Given the description of an element on the screen output the (x, y) to click on. 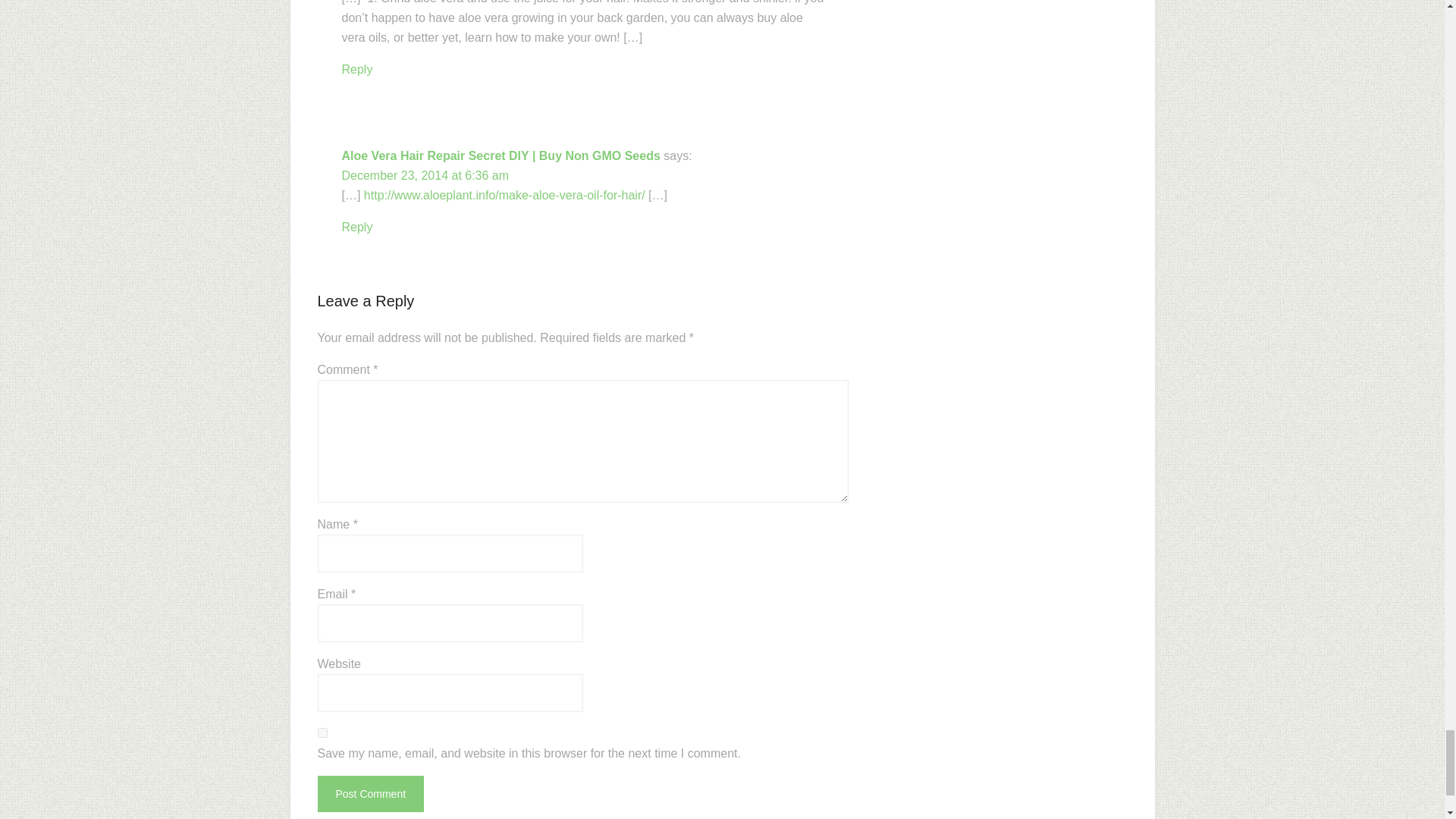
Post Comment (370, 793)
yes (321, 732)
